Given the description of an element on the screen output the (x, y) to click on. 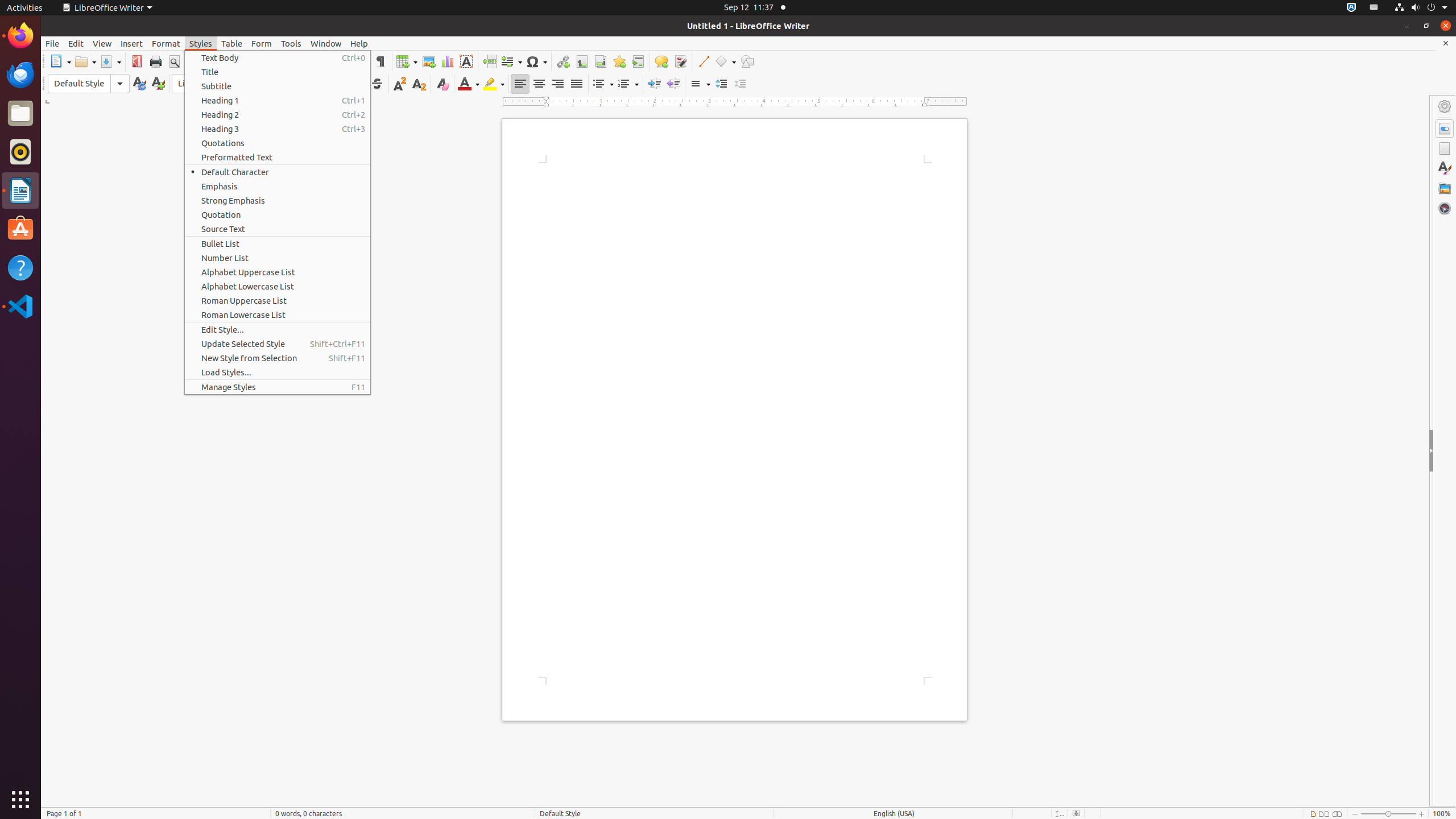
Properties Element type: radio-button (1444, 128)
Basic Shapes Element type: push-button (724, 61)
Styles Element type: radio-button (1444, 168)
Increase Element type: push-button (721, 83)
Paragraph Style Element type: combo-box (88, 83)
